Given the description of an element on the screen output the (x, y) to click on. 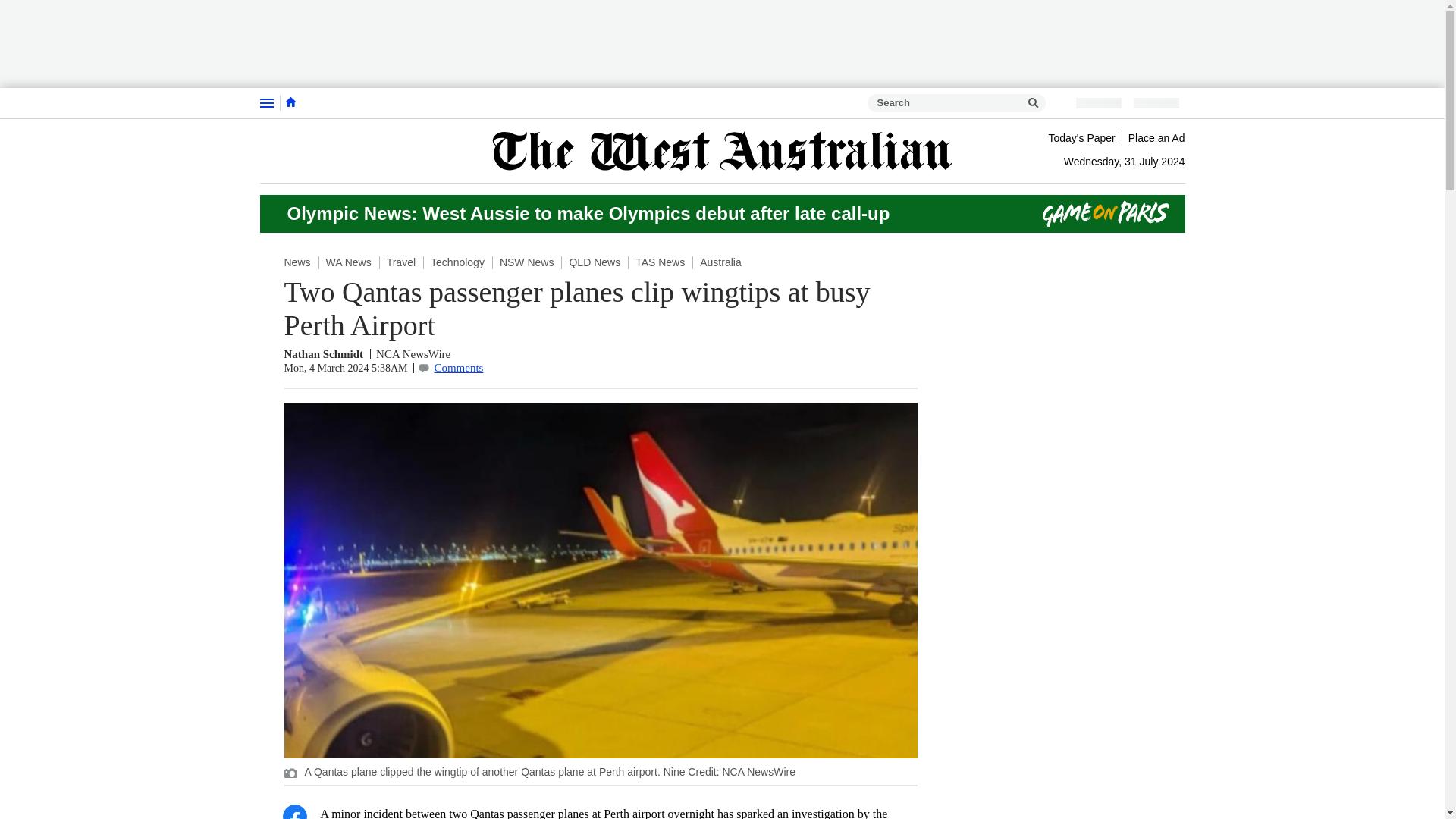
Home (290, 102)
Please enter a search term. (1033, 102)
